Given the description of an element on the screen output the (x, y) to click on. 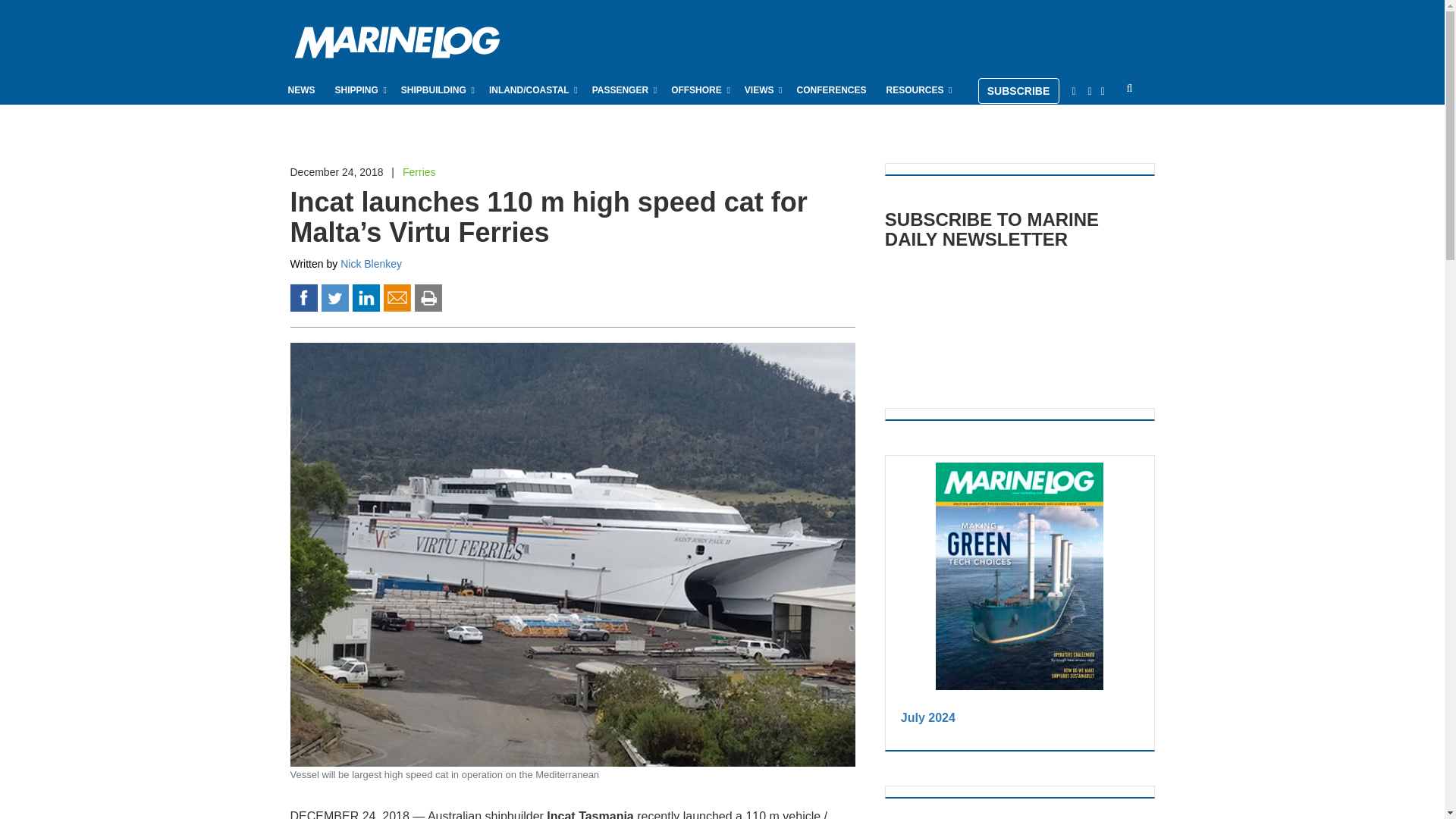
SUBSCRIBE (1018, 90)
NEWS (301, 89)
Shipbuilding (435, 89)
News (301, 89)
Shipping (358, 89)
SHIPPING (358, 89)
